Given the description of an element on the screen output the (x, y) to click on. 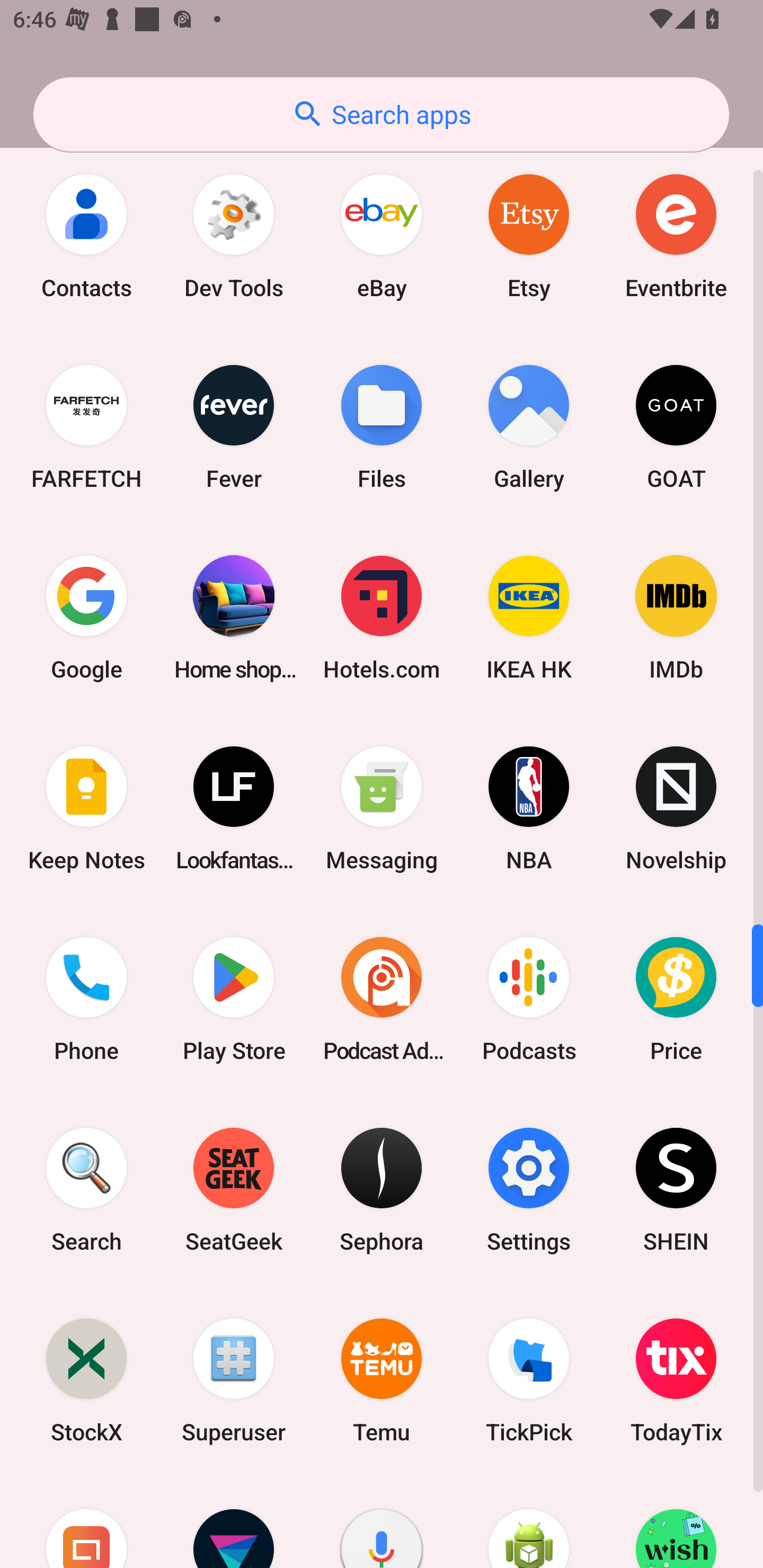
  Search apps (381, 114)
Contacts (86, 235)
Dev Tools (233, 235)
eBay (381, 235)
Etsy (528, 235)
Eventbrite (676, 235)
FARFETCH (86, 426)
Fever (233, 426)
Files (381, 426)
Gallery (528, 426)
GOAT (676, 426)
Google (86, 617)
Home shopping (233, 617)
Hotels.com (381, 617)
IKEA HK (528, 617)
IMDb (676, 617)
Keep Notes (86, 808)
Lookfantastic (233, 808)
Messaging (381, 808)
NBA (528, 808)
Novelship (676, 808)
Phone (86, 998)
Play Store (233, 998)
Podcast Addict (381, 998)
Podcasts (528, 998)
Price (676, 998)
Search (86, 1189)
SeatGeek (233, 1189)
Sephora (381, 1189)
Settings (528, 1189)
SHEIN (676, 1189)
StockX (86, 1380)
Superuser (233, 1380)
Temu (381, 1380)
TickPick (528, 1380)
TodayTix (676, 1380)
Urban Ladder (86, 1521)
Vivid Seats (233, 1521)
Voice Search (381, 1521)
WebView Browser Tester (528, 1521)
Wish (676, 1521)
